Given the description of an element on the screen output the (x, y) to click on. 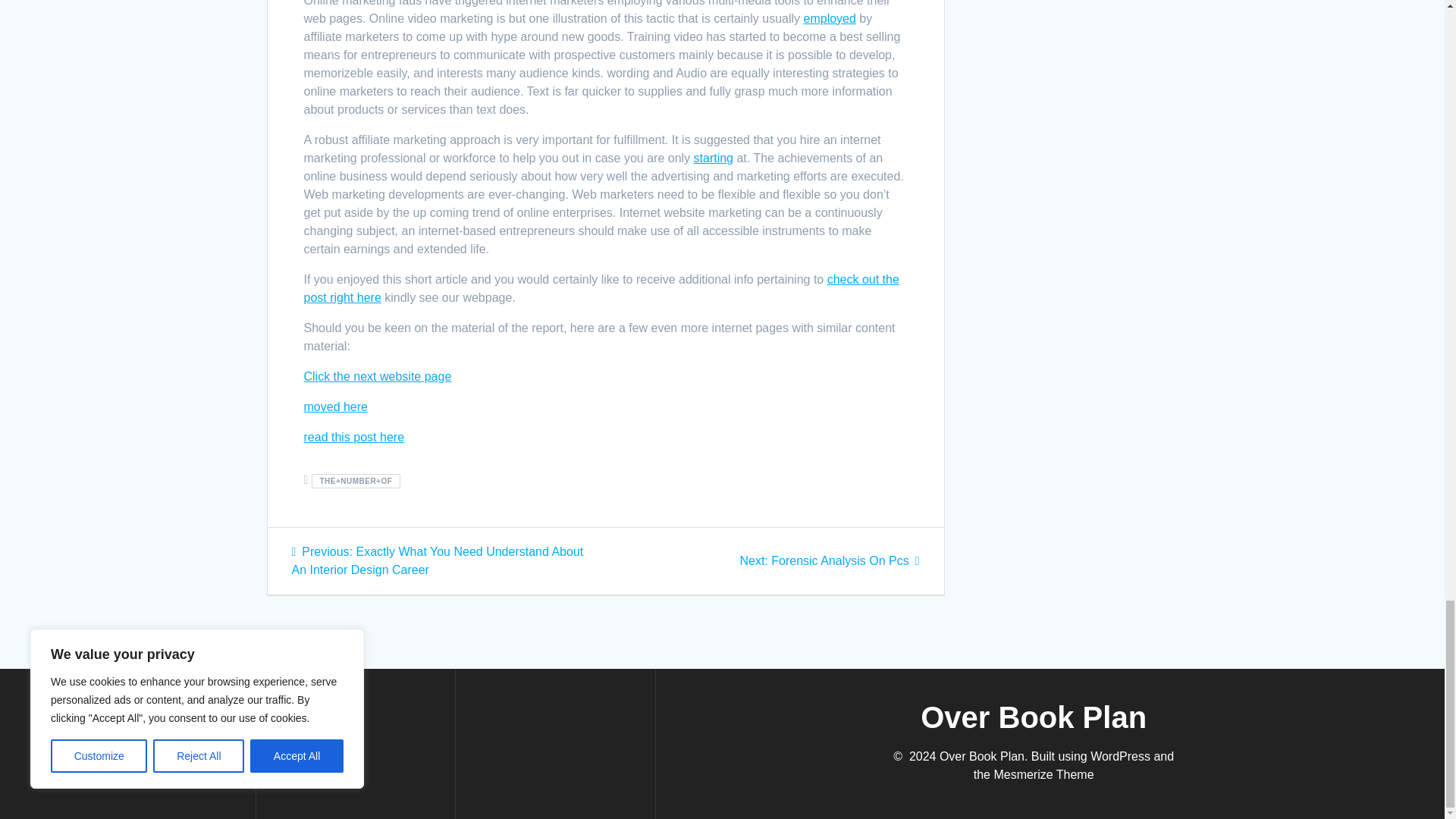
moved here (335, 406)
Click the next website page (376, 376)
starting (713, 157)
read this post here (353, 436)
check out the post right here (828, 560)
employed (600, 287)
